Given the description of an element on the screen output the (x, y) to click on. 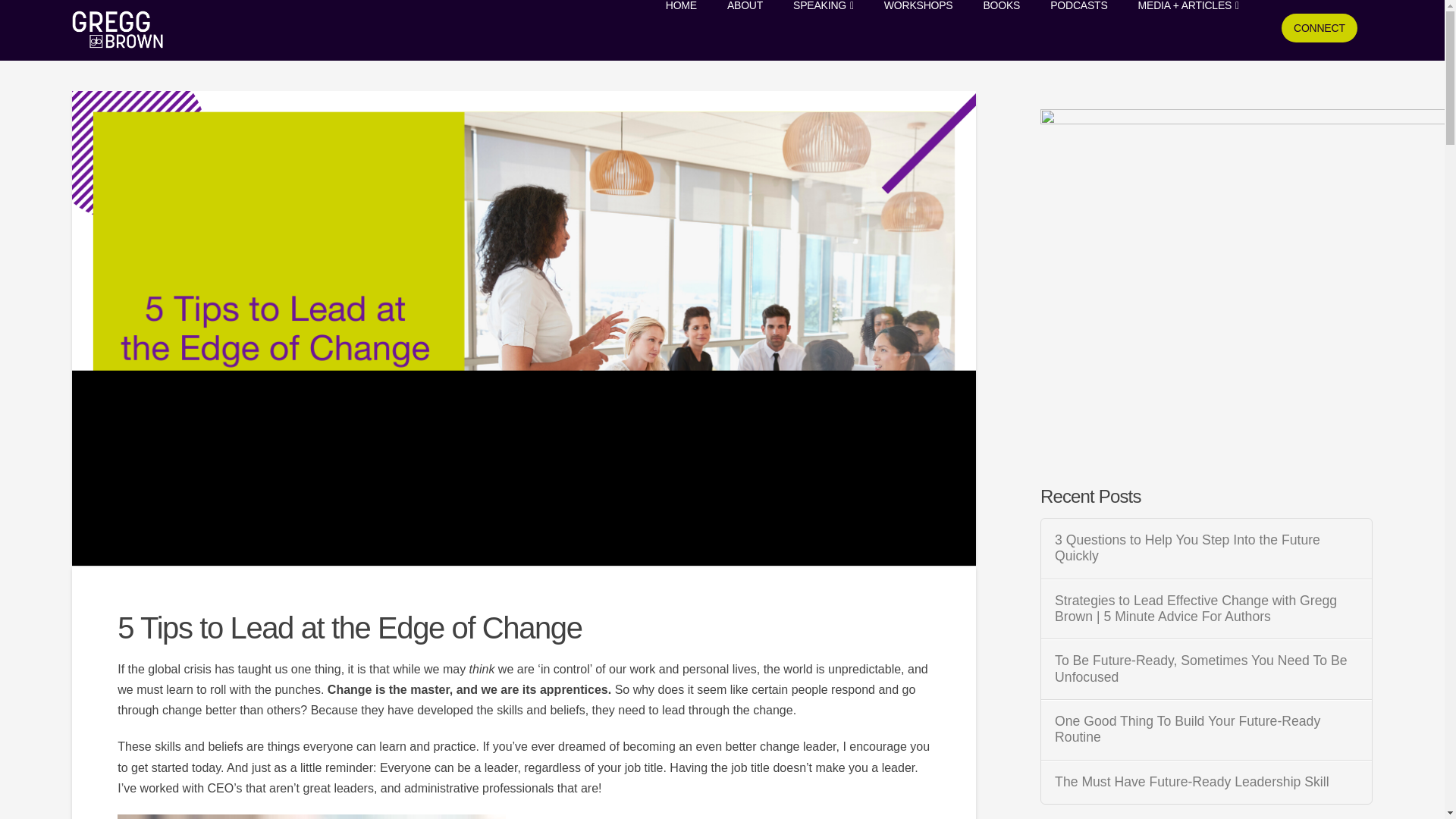
CONNECT (1319, 30)
To Be Future-Ready, Sometimes You Need To Be Unfocused (1205, 668)
HOME (680, 30)
One Good Thing To Build Your Future-Ready Routine (1205, 729)
SPEAKING (823, 30)
The Must Have Future-Ready Leadership Skill (1205, 781)
BOOKS (1001, 30)
PODCASTS (1078, 30)
3 Questions to Help You Step Into the Future Quickly (1205, 548)
ABOUT (744, 30)
WORKSHOPS (918, 30)
